Given the description of an element on the screen output the (x, y) to click on. 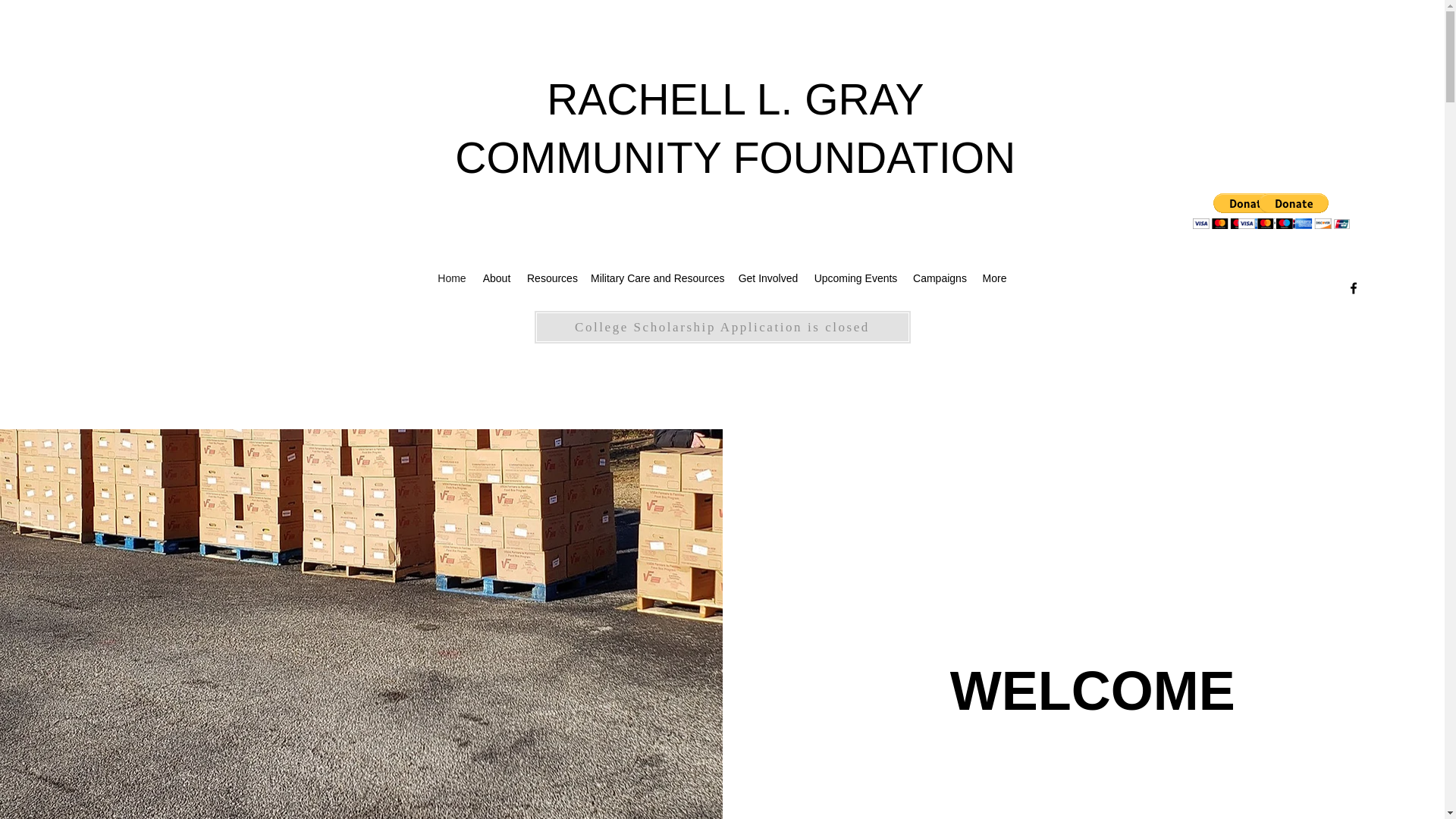
College Scholarship Application is closed (722, 326)
Upcoming Events (855, 277)
Get Involved (768, 277)
COMMUNITY FOUNDATION (734, 157)
About (496, 277)
Resources (551, 277)
RACHELL L. GRAY (735, 99)
Home (451, 277)
Campaigns (939, 277)
Military Care and Resources (656, 277)
